Given the description of an element on the screen output the (x, y) to click on. 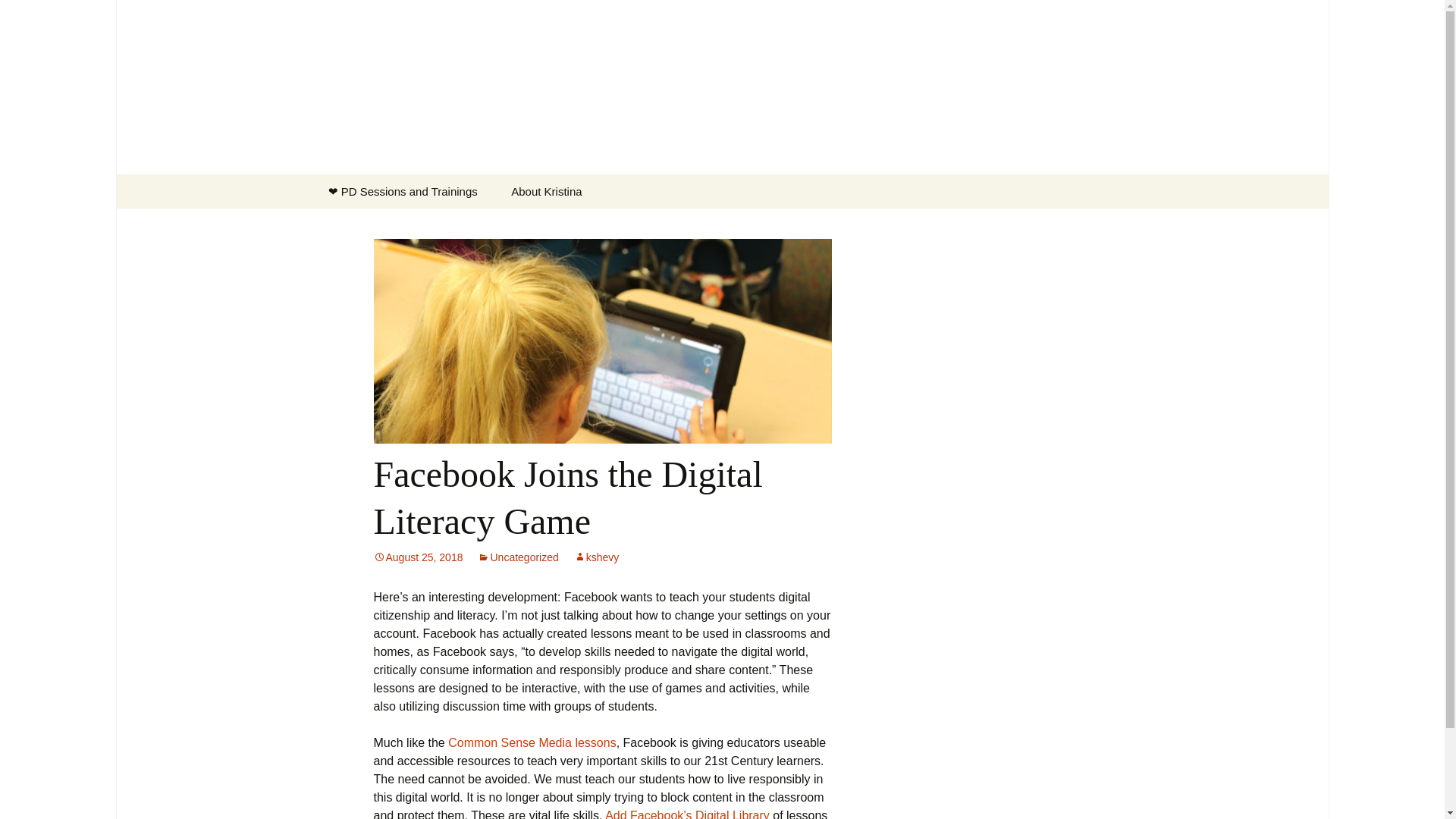
About Kristina (546, 191)
Permalink to Facebook Joins the Digital Literacy Game (417, 557)
Common Sense Media lessons (531, 742)
August 25, 2018 (417, 557)
kshevy (596, 557)
View all posts by kshevy (596, 557)
Search (18, 15)
Uncategorized (517, 557)
